Given the description of an element on the screen output the (x, y) to click on. 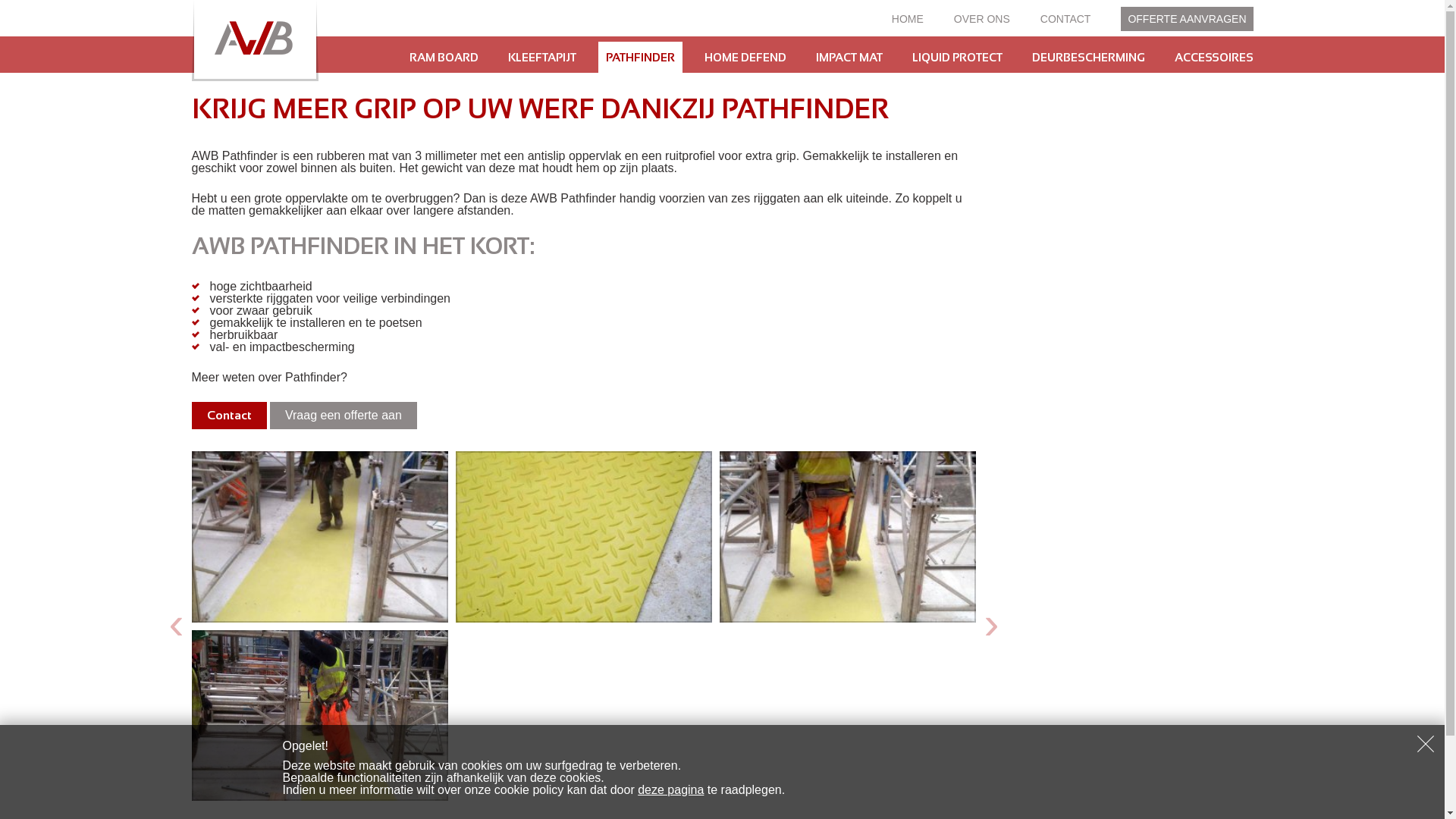
ACCESSOIRES Element type: text (1213, 56)
HOME Element type: text (907, 18)
Vraag een offerte aan Element type: text (343, 415)
OVER ONS Element type: text (981, 18)
IMPACT MAT Element type: text (849, 56)
CONTACT Element type: text (1065, 18)
KLEEFTAPIJT Element type: text (541, 56)
RAM BOARD Element type: text (443, 56)
DEURBESCHERMING Element type: text (1087, 56)
PATHFINDER Element type: text (639, 56)
HOME DEFEND Element type: text (744, 56)
deze pagina Element type: text (670, 789)
Sluiten Element type: text (1425, 743)
LIQUID PROTECT Element type: text (956, 56)
OFFERTE AANVRAGEN Element type: text (1186, 18)
Contact Element type: text (228, 415)
